Given the description of an element on the screen output the (x, y) to click on. 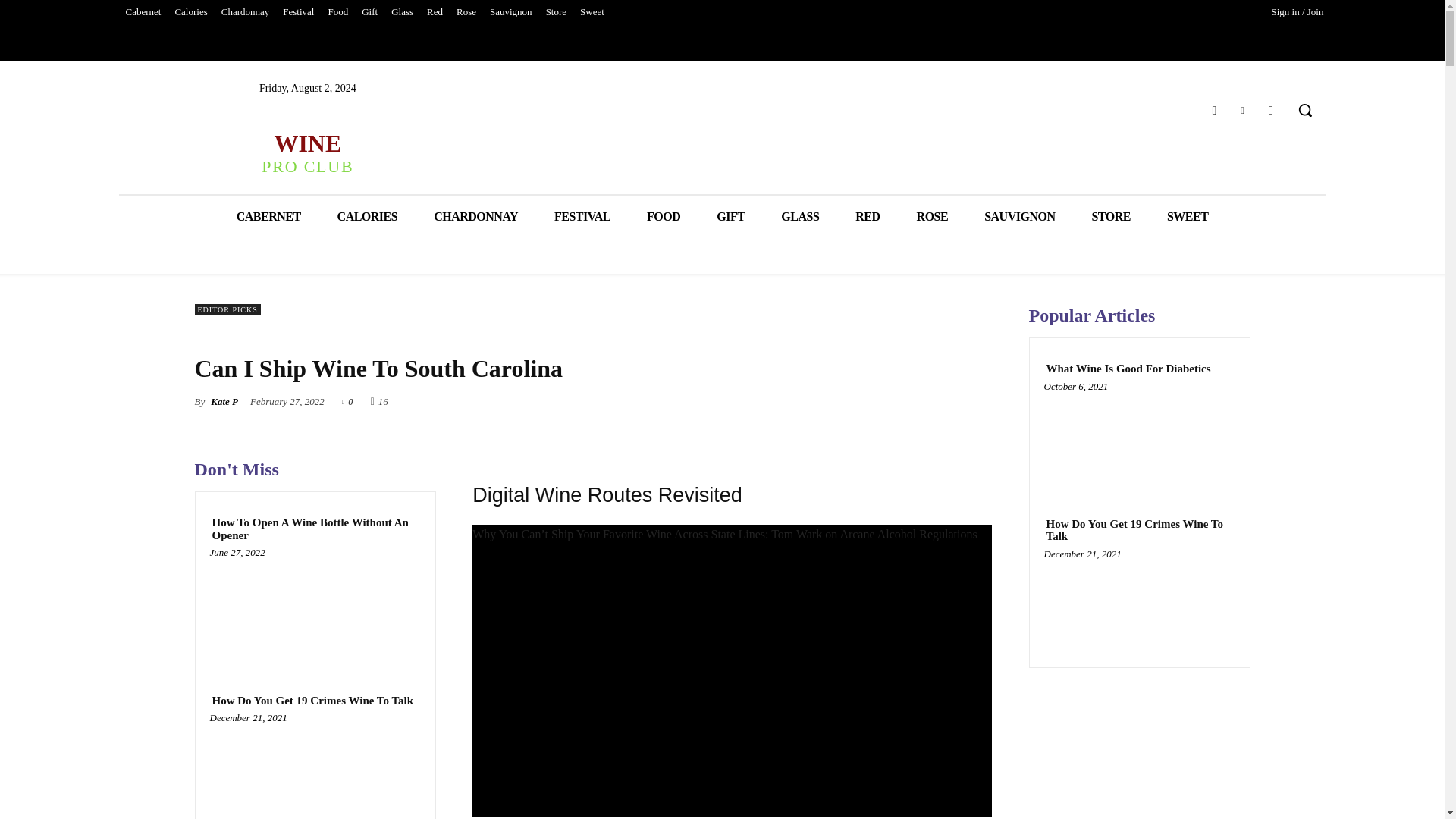
Youtube (1270, 109)
Sweet (592, 12)
How To Open A Wine Bottle Without An Opener (314, 528)
How To Open A Wine Bottle Without An Opener (306, 152)
Store (314, 608)
Twitter (555, 12)
Food (1241, 109)
Glass (337, 12)
Sauvignon (402, 12)
